Given the description of an element on the screen output the (x, y) to click on. 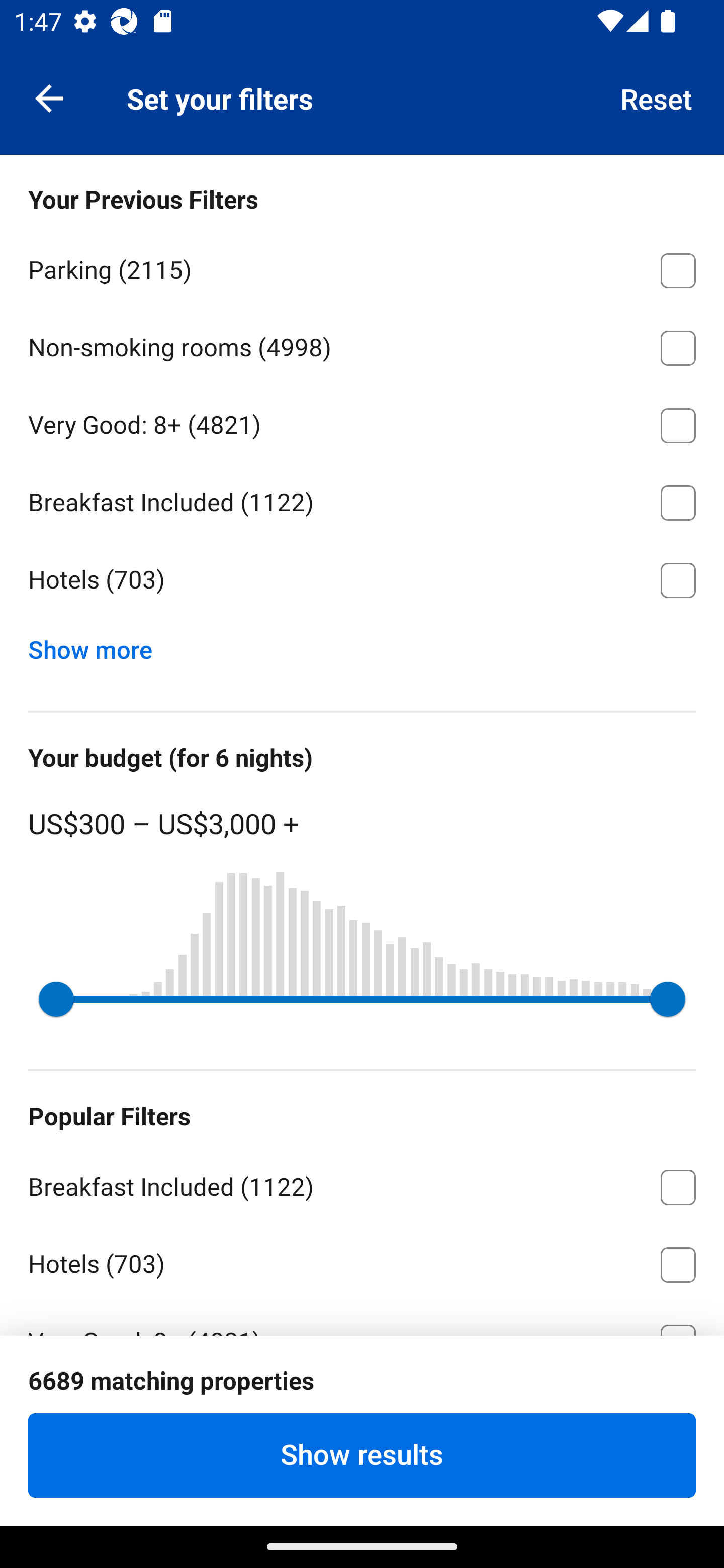
Navigate up (49, 97)
Reset (656, 97)
Parking ⁦(2115) (361, 266)
Non-smoking rooms ⁦(4998) (361, 344)
Very Good: 8+ ⁦(4821) (361, 422)
Breakfast Included ⁦(1122) (361, 498)
Hotels ⁦(703) (361, 579)
Show more (97, 645)
Breakfast Included ⁦(1122) (361, 1183)
Hotels ⁦(703) (361, 1261)
Show results (361, 1454)
